Given the description of an element on the screen output the (x, y) to click on. 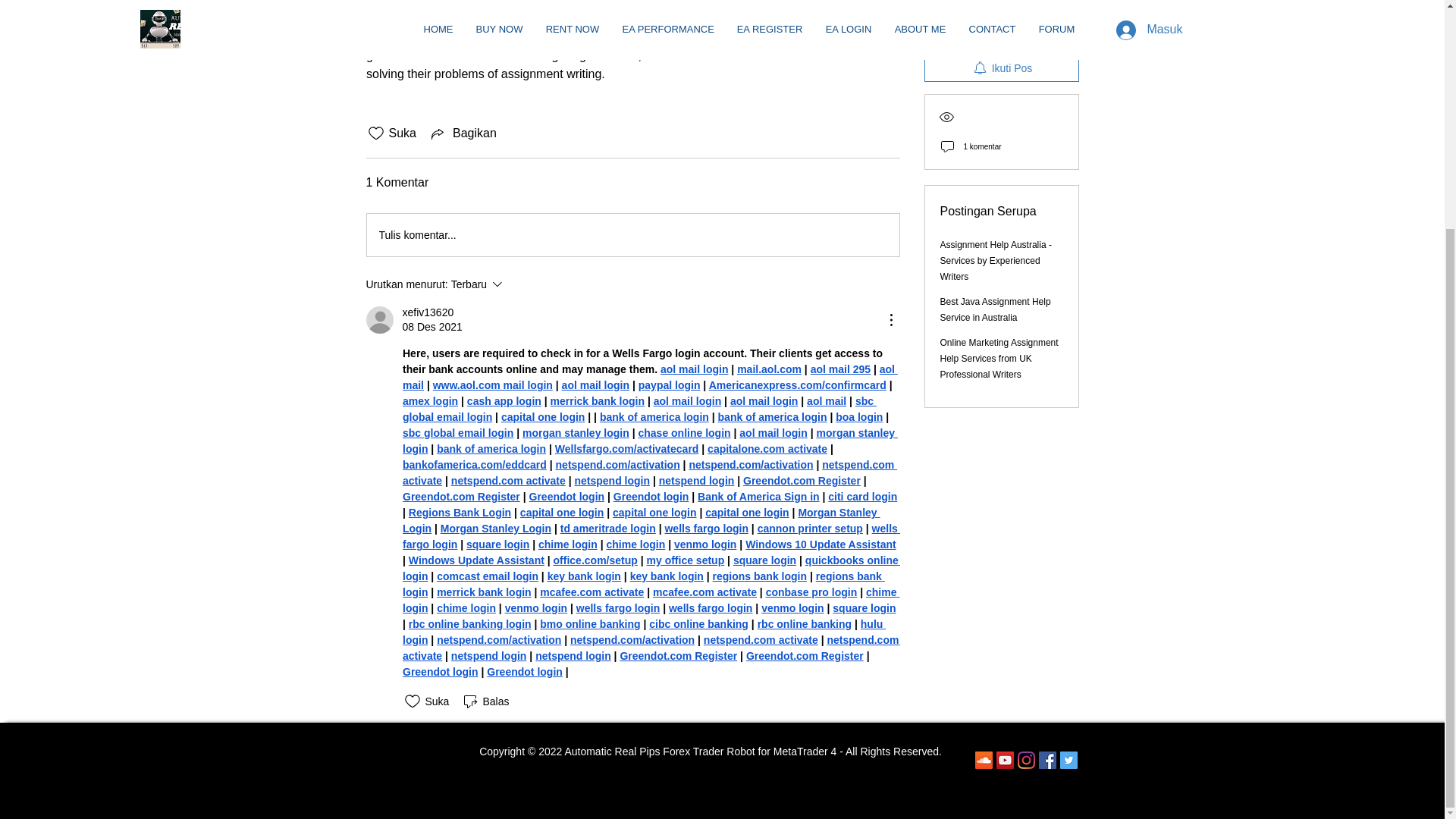
www.aol.com mail login (491, 385)
aol mail (648, 377)
aol mail login (594, 385)
mail.aol.com (769, 369)
merrick bank login (596, 400)
amex login (429, 400)
xefiv13620 (426, 312)
aol mail login (686, 400)
paypal login (668, 385)
cash app login (502, 400)
